Given the description of an element on the screen output the (x, y) to click on. 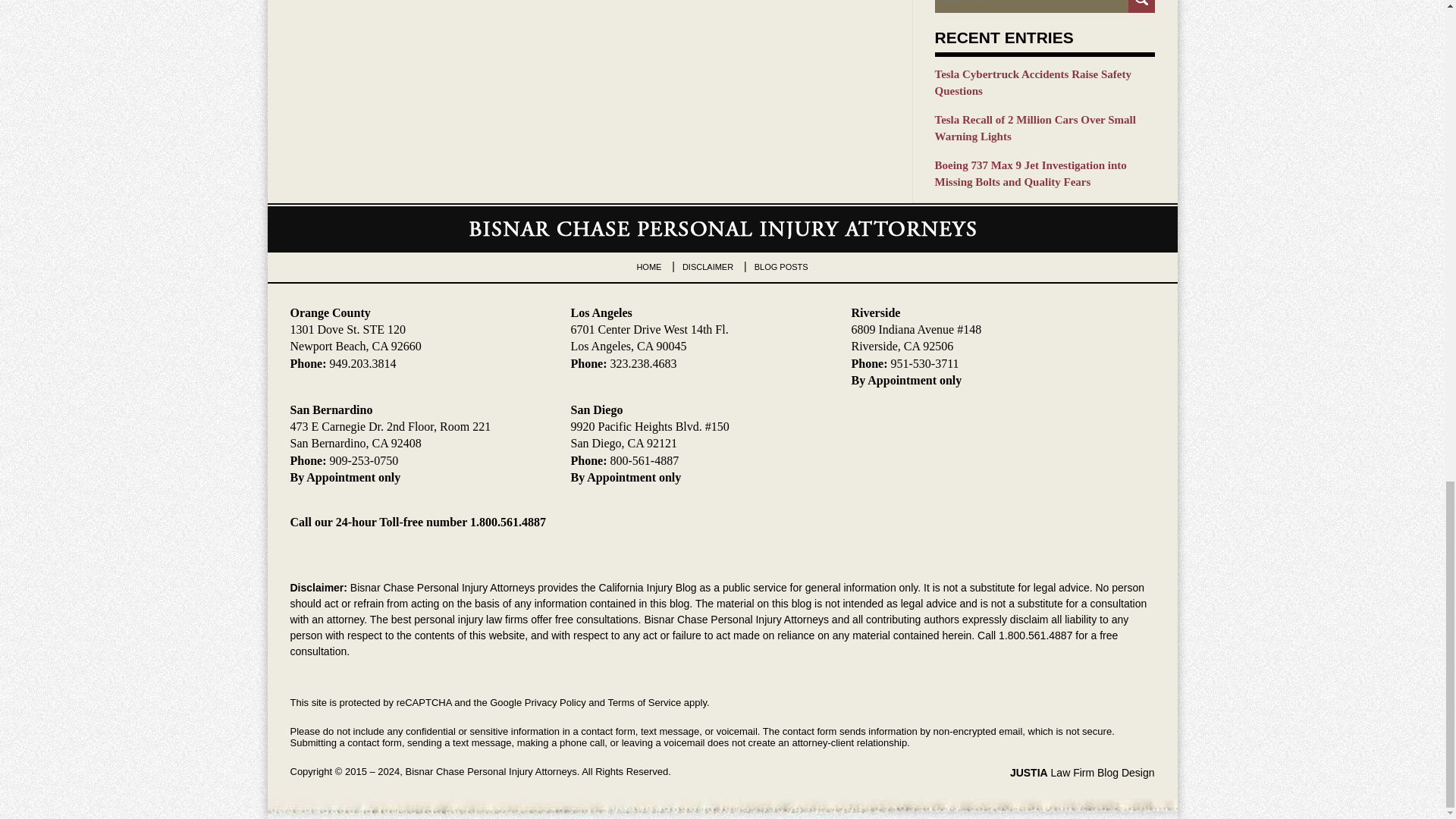
SEARCH (1141, 6)
Tesla Cybertruck Accidents Raise Safety Questions (1044, 82)
Tesla Recall of 2 Million Cars Over Small Warning Lights (1044, 128)
